Given the description of an element on the screen output the (x, y) to click on. 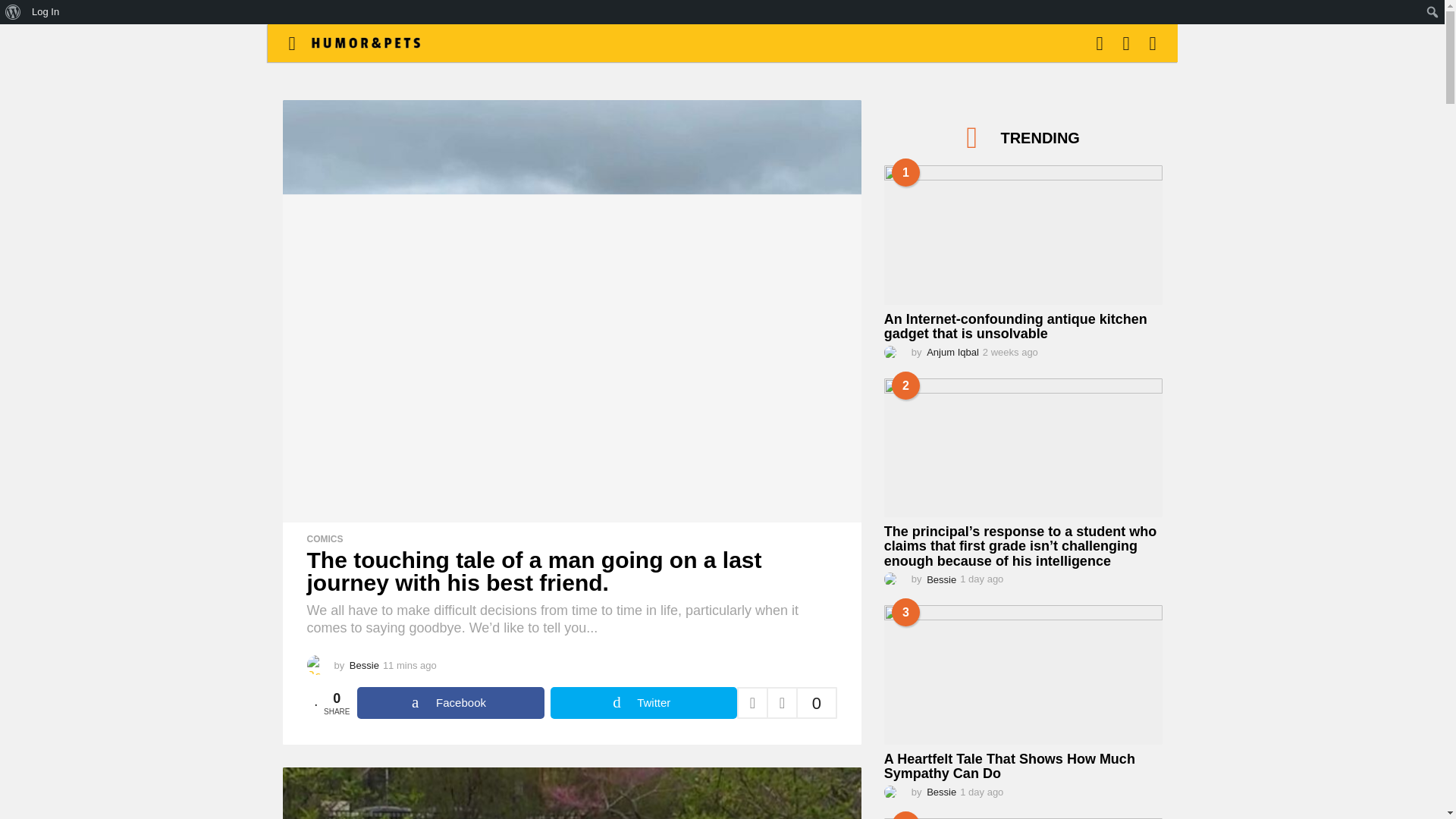
Bessie (363, 665)
Share on Facebook (449, 703)
Log In (45, 12)
COMICS (323, 538)
Search (15, 12)
Facebook (449, 703)
Share on Twitter (643, 703)
